Given the description of an element on the screen output the (x, y) to click on. 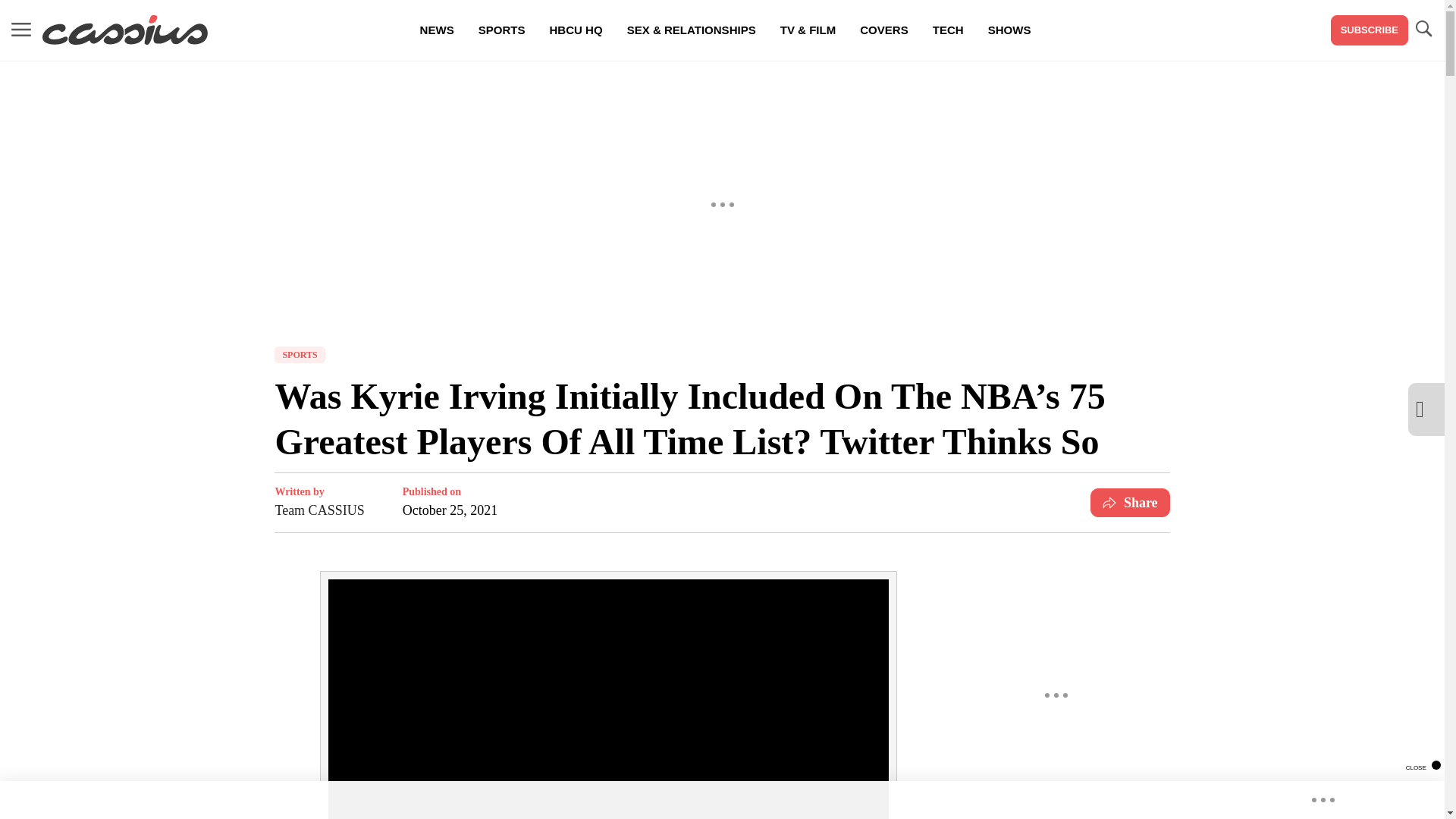
NEWS (436, 30)
MENU (20, 29)
Team CASSIUS (319, 509)
SPORTS (501, 30)
HBCU HQ (575, 30)
SUBSCRIBE (1368, 30)
SPORTS (299, 354)
TOGGLE SEARCH (1422, 30)
TECH (947, 30)
COVERS (883, 30)
